Given the description of an element on the screen output the (x, y) to click on. 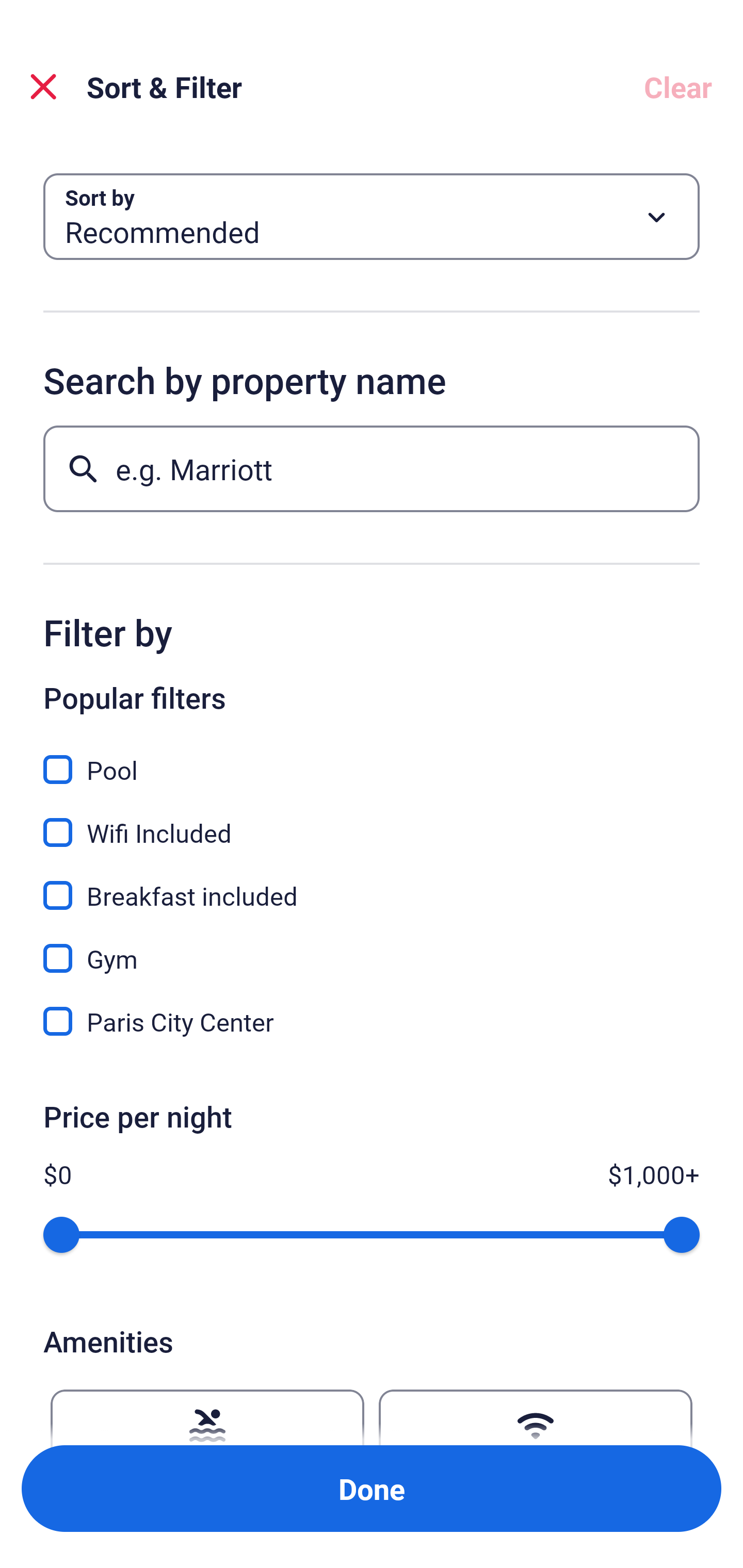
Close Sort and Filter (43, 86)
Clear (677, 86)
Sort by Button Recommended (371, 217)
e.g. Marriott Button (371, 468)
Pool, Pool (371, 757)
Wifi Included, Wifi Included (371, 821)
Breakfast included, Breakfast included (371, 883)
Gym, Gym (371, 946)
Paris City Center, Paris City Center (371, 1021)
Apply and close Sort and Filter Done (371, 1488)
